Given the description of an element on the screen output the (x, y) to click on. 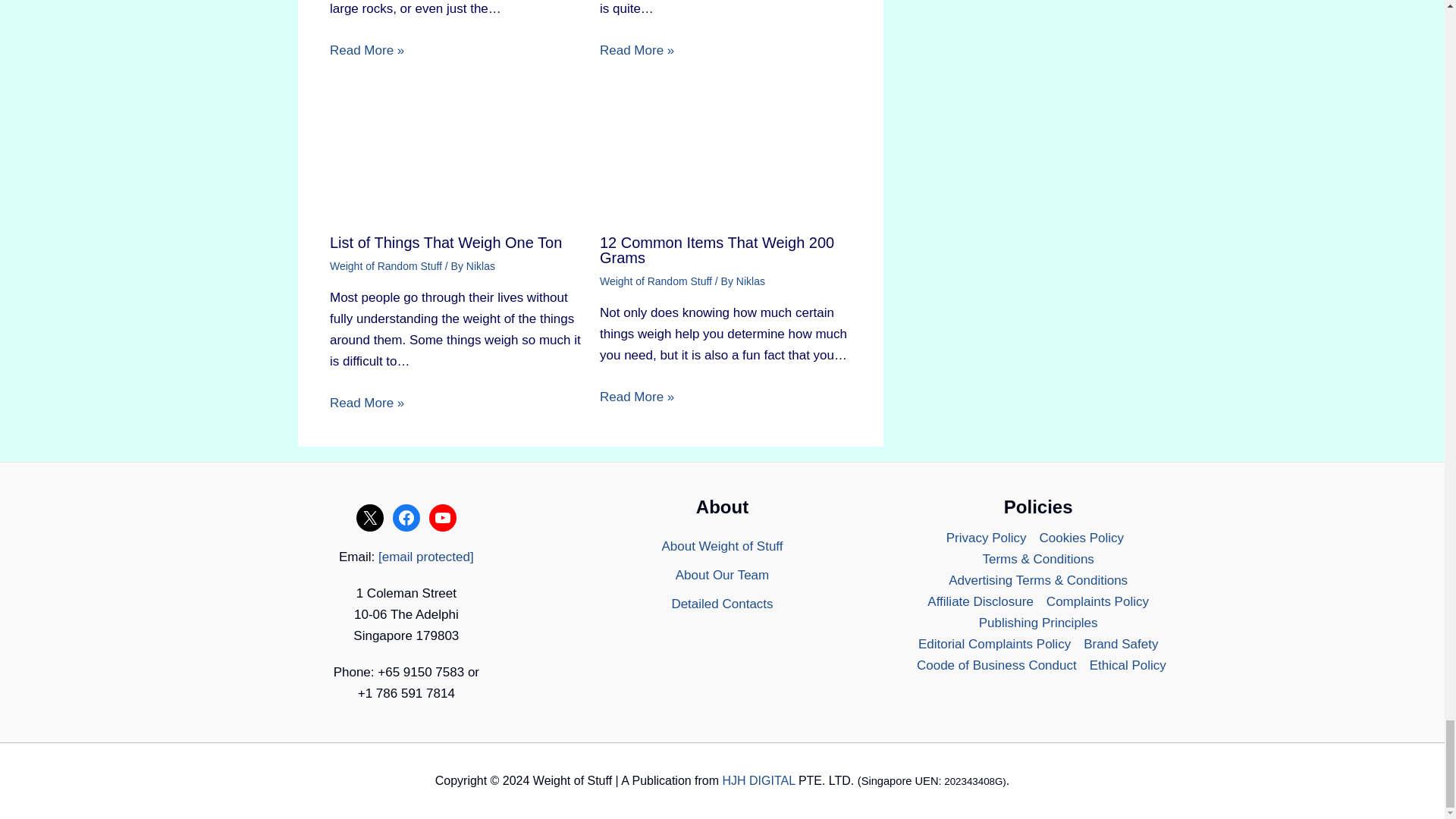
View all posts by Niklas (480, 265)
View all posts by Niklas (750, 281)
